Given the description of an element on the screen output the (x, y) to click on. 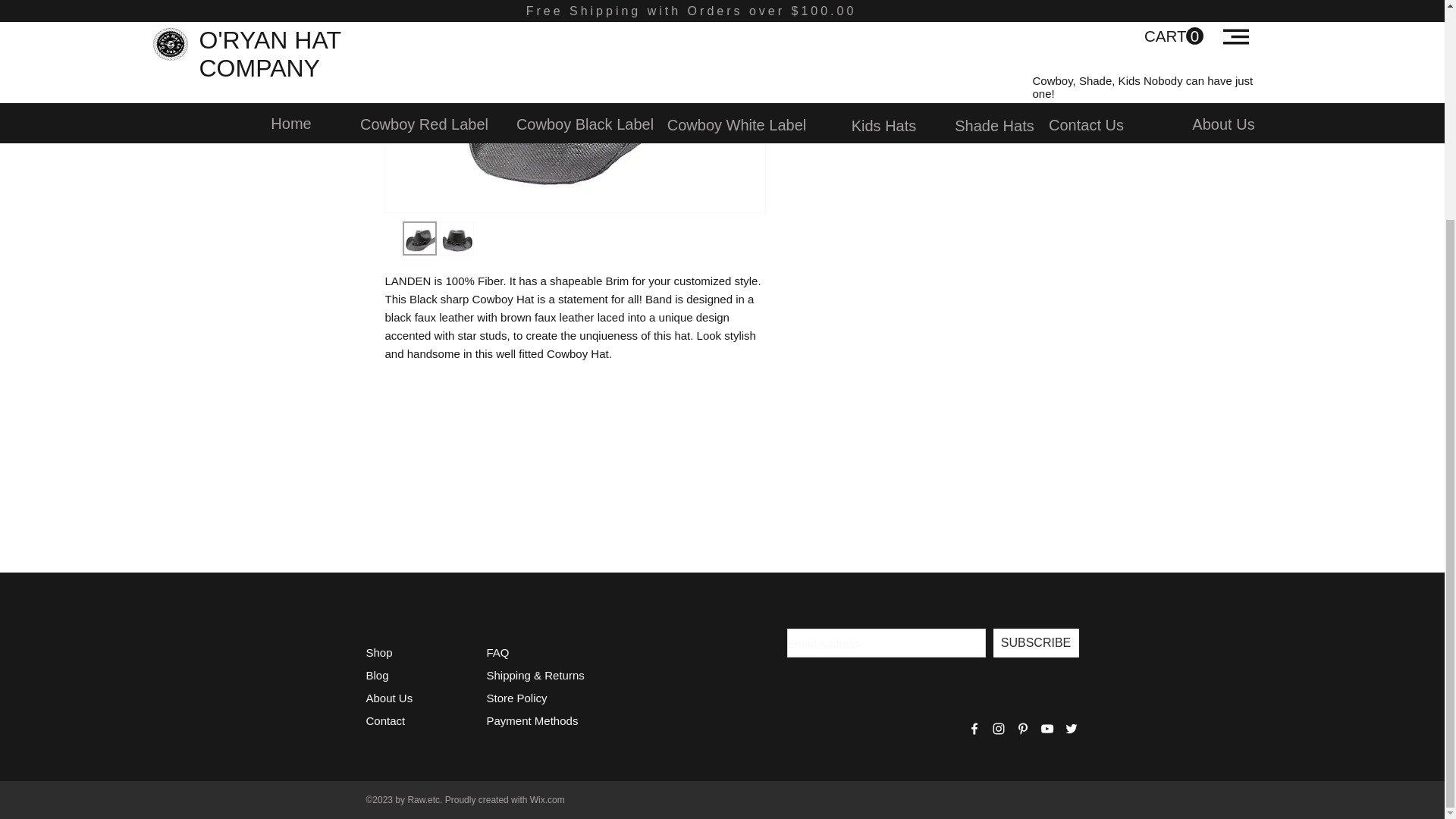
Shop (378, 652)
About Us (388, 697)
FAQ (497, 652)
Contact (384, 720)
Store Policy (516, 697)
1 (818, 62)
SUBSCRIBE (1035, 642)
Wix.com (546, 799)
Payment Methods  (533, 720)
Add to Cart (924, 117)
Blog (376, 675)
